Given the description of an element on the screen output the (x, y) to click on. 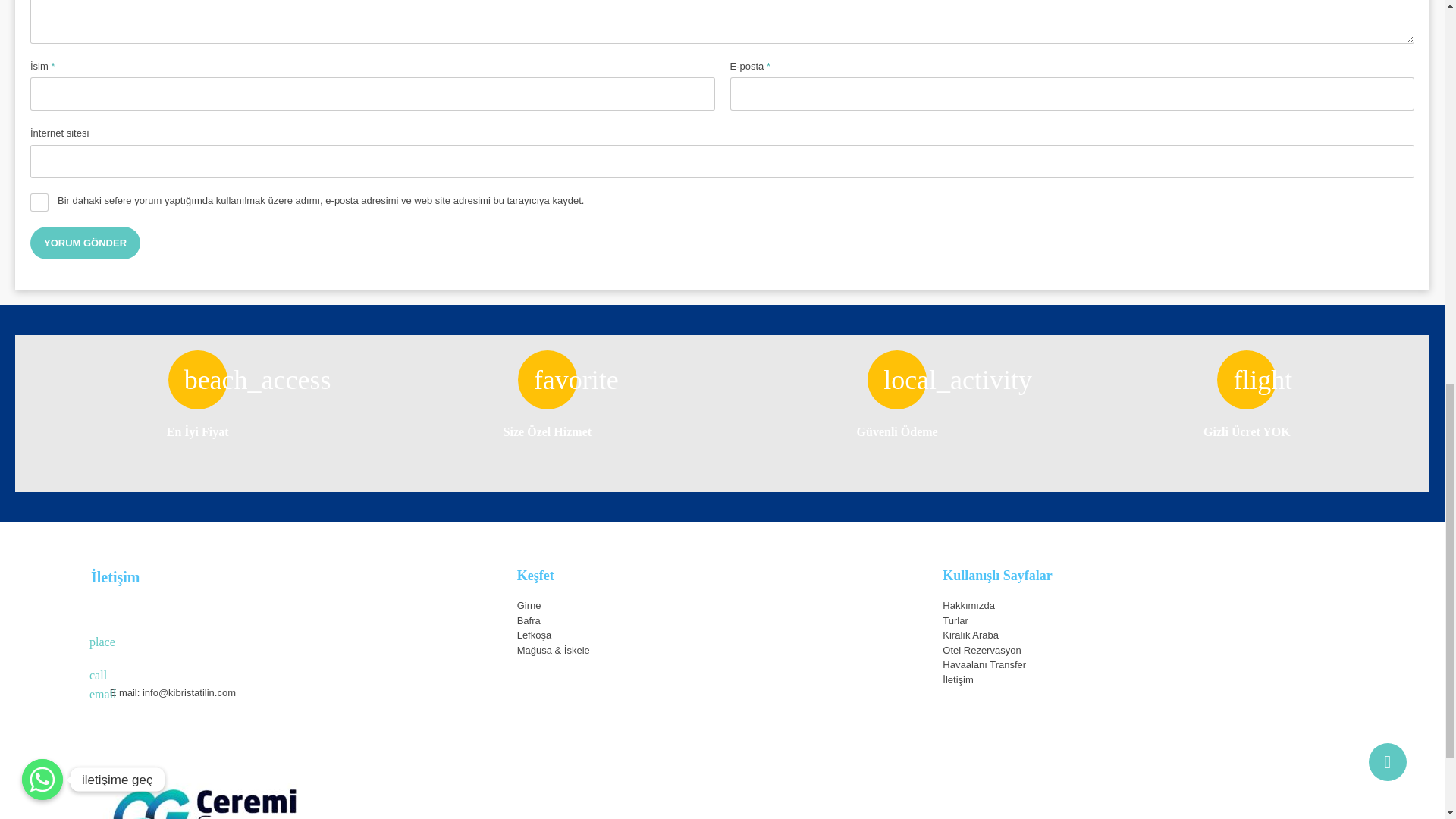
Girne (528, 604)
Turlar (955, 620)
Otel Rezervasyon (981, 650)
Bafra (528, 620)
